Given the description of an element on the screen output the (x, y) to click on. 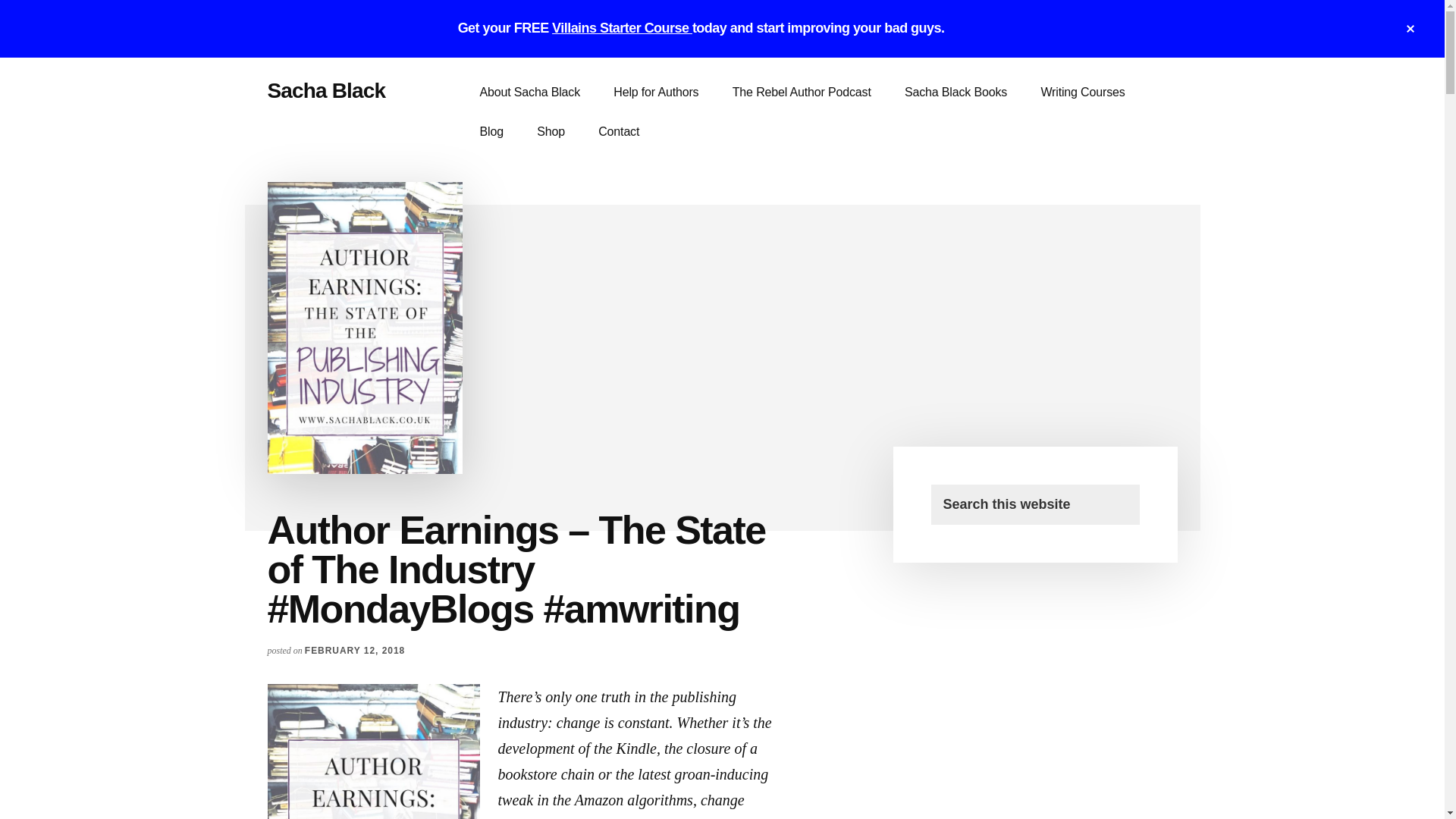
Villains Starter Course (622, 28)
Contact (618, 131)
Help for Authors (655, 92)
Sacha Black (325, 90)
About Sacha Black (529, 92)
Blog (491, 131)
Shop (550, 131)
Writing Courses (1082, 92)
